Given the description of an element on the screen output the (x, y) to click on. 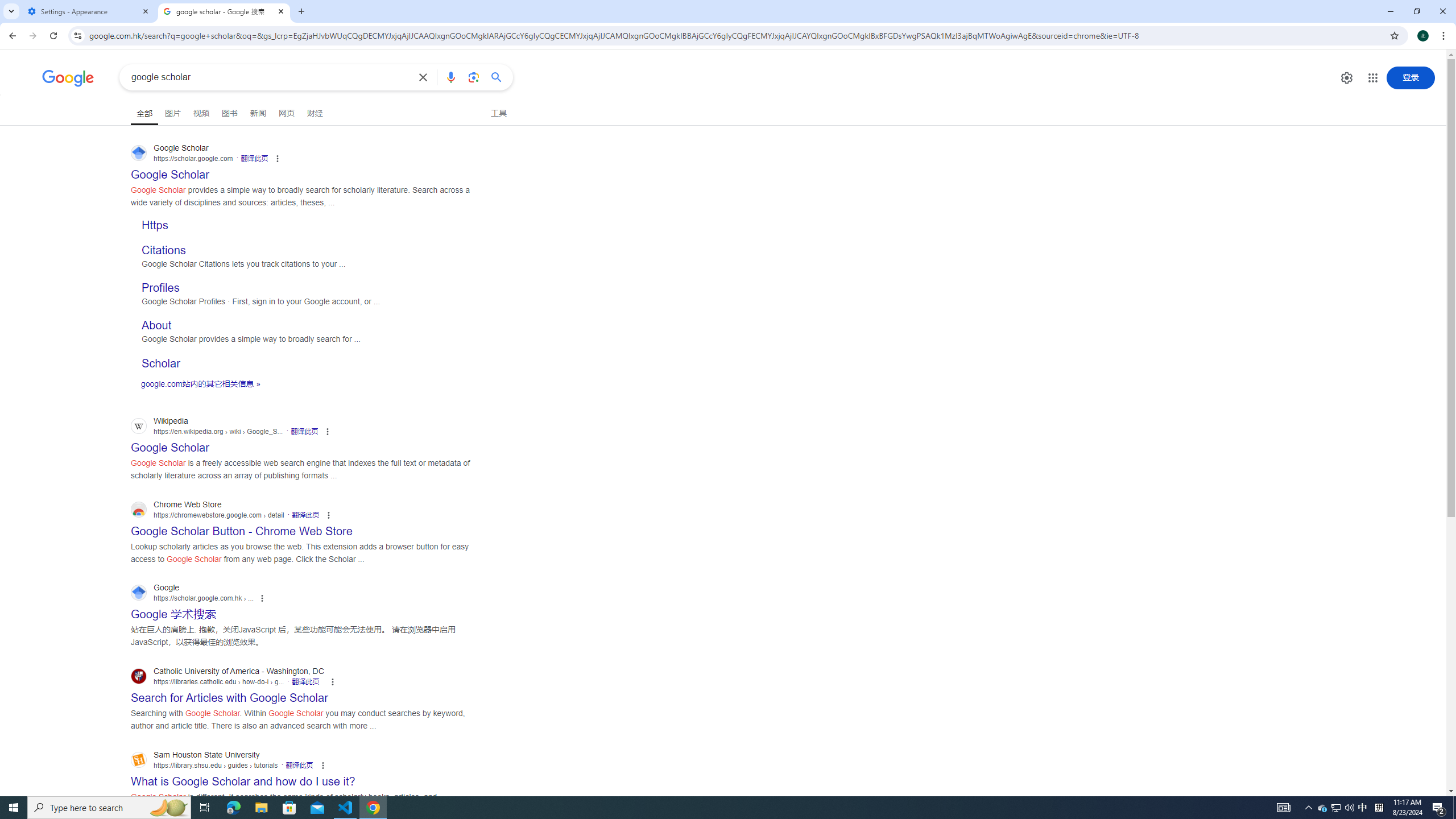
Citations (163, 249)
